Given the description of an element on the screen output the (x, y) to click on. 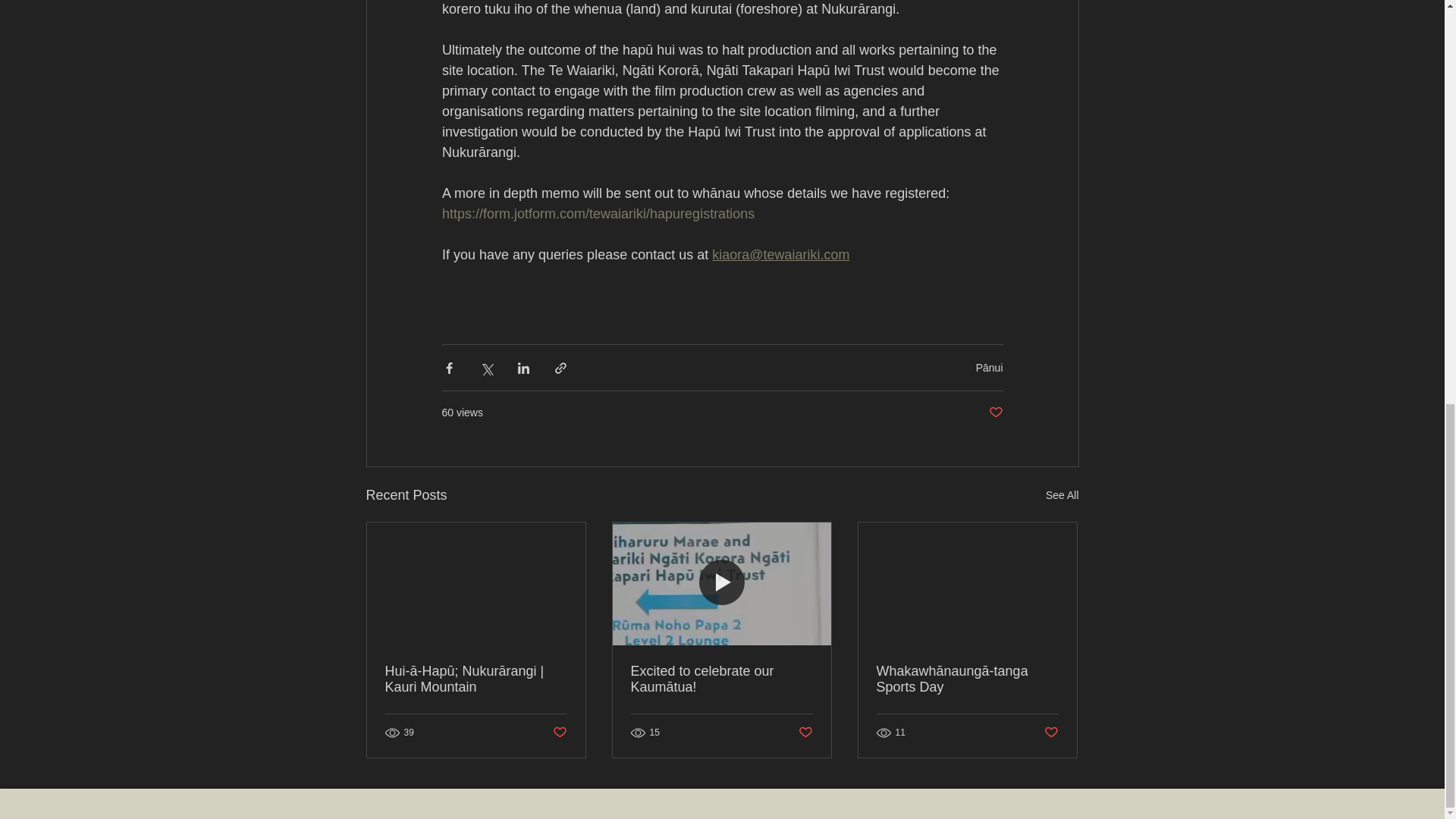
Post not marked as liked (995, 412)
See All (1061, 495)
Post not marked as liked (558, 732)
Post not marked as liked (804, 732)
